Given the description of an element on the screen output the (x, y) to click on. 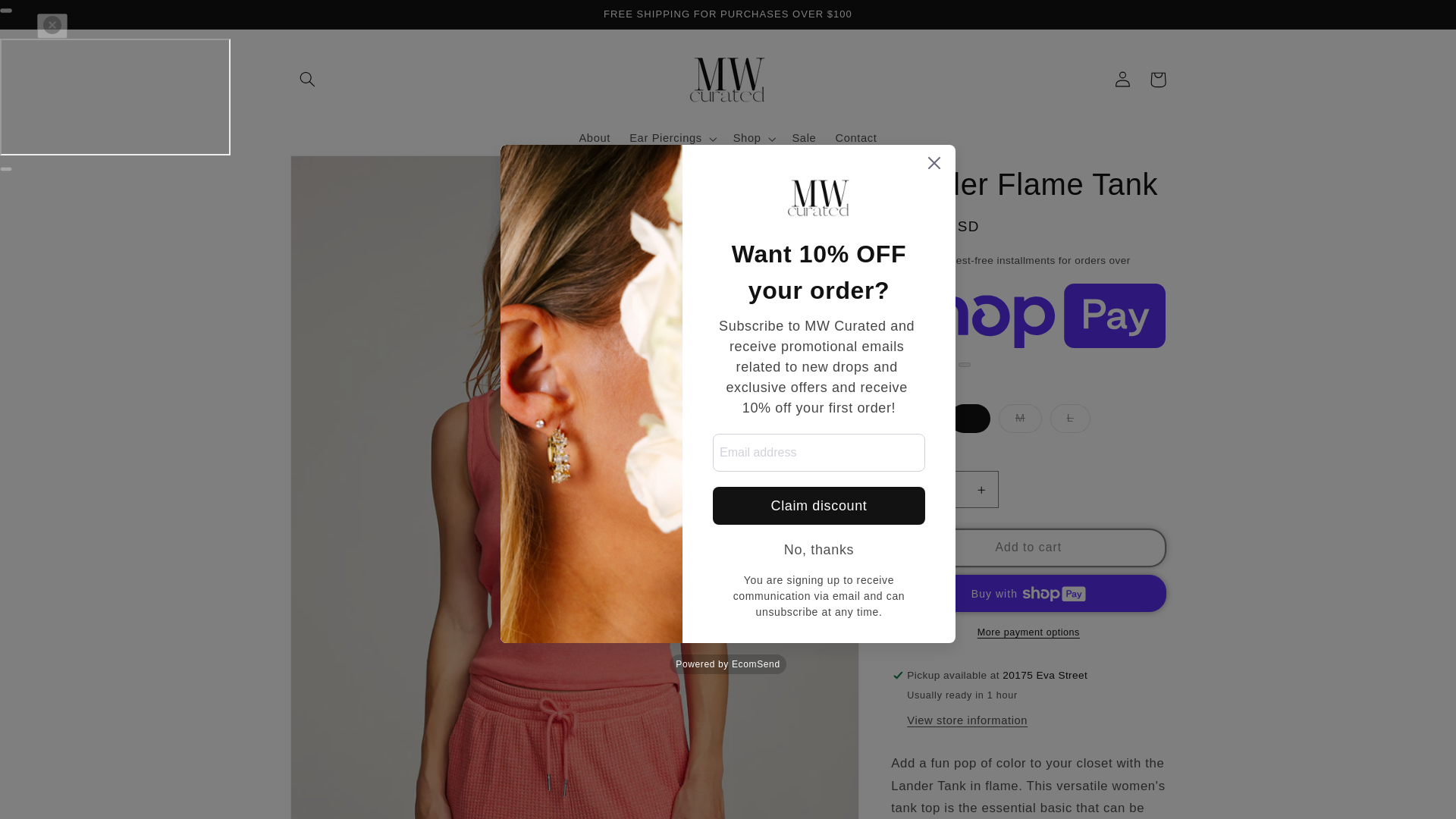
Skip to content (48, 18)
1 (944, 488)
